Given the description of an element on the screen output the (x, y) to click on. 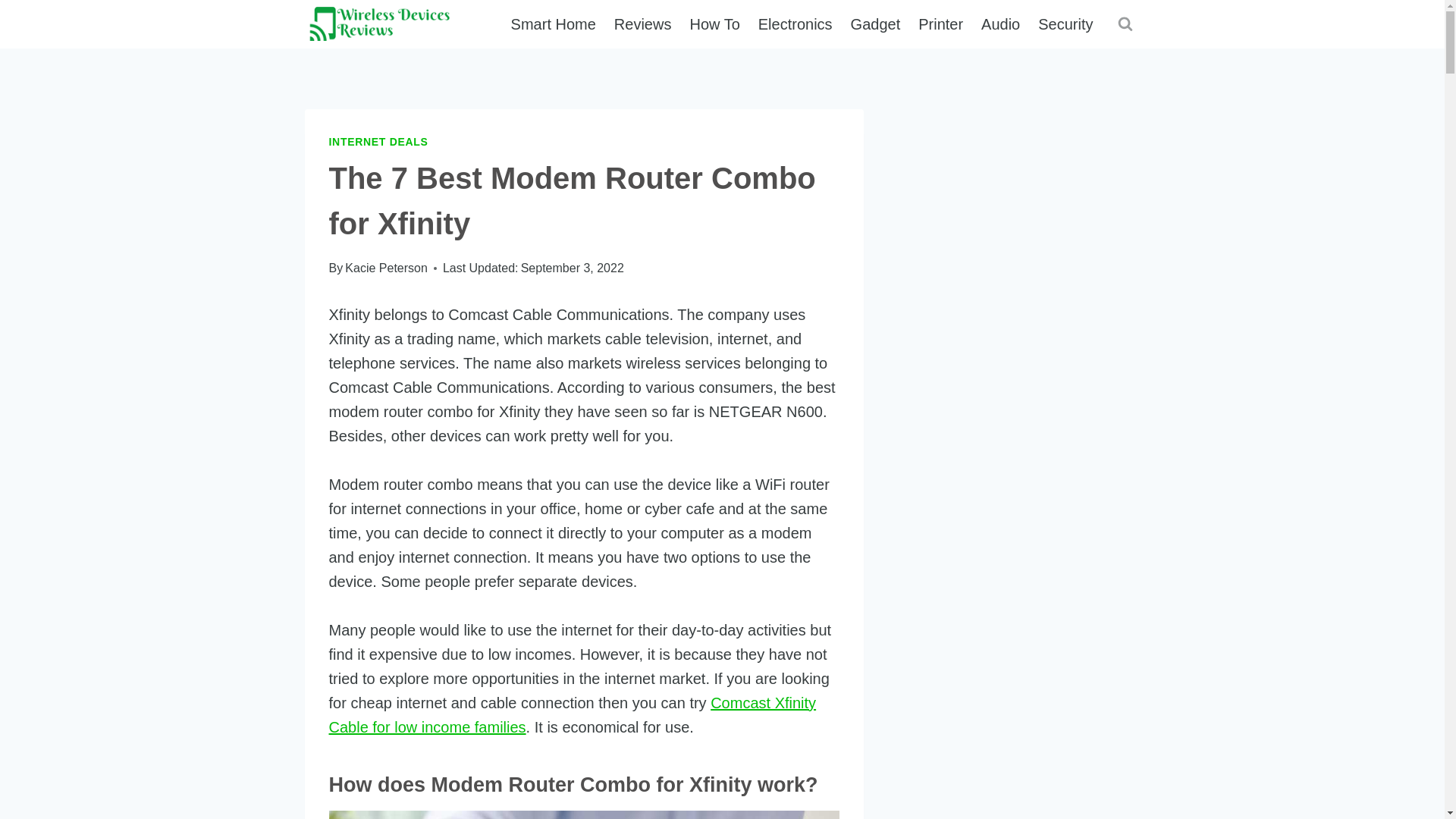
Comcast Xfinity Cable for low income families (572, 714)
How To (713, 24)
Smart Home (553, 24)
INTERNET DEALS (378, 141)
Audio (1000, 24)
Printer (940, 24)
Electronics (795, 24)
Gadget (875, 24)
Reviews (643, 24)
Security (1065, 24)
